Given the description of an element on the screen output the (x, y) to click on. 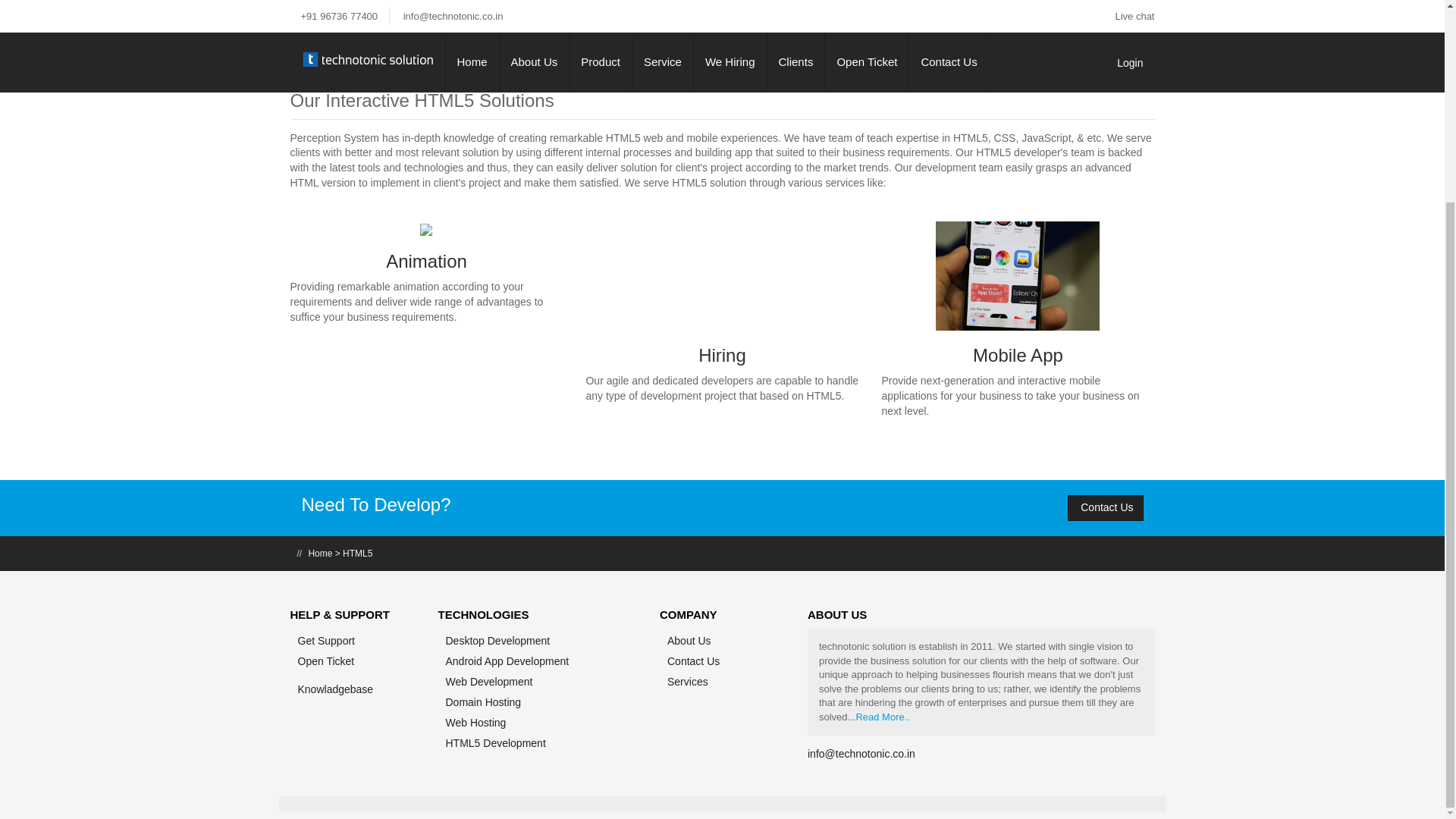
Domain Hosting (483, 702)
Desktop Development (497, 640)
HTML5 Development (495, 743)
Android App Development (507, 661)
Read More.. (883, 716)
Web Hosting (475, 722)
Knowladgebase (334, 689)
Get Support (326, 640)
HTML5 (357, 552)
Home (319, 552)
About Us (688, 640)
Contact Us (1104, 507)
Web Development (488, 681)
Services (686, 681)
Contact Us (692, 661)
